Given the description of an element on the screen output the (x, y) to click on. 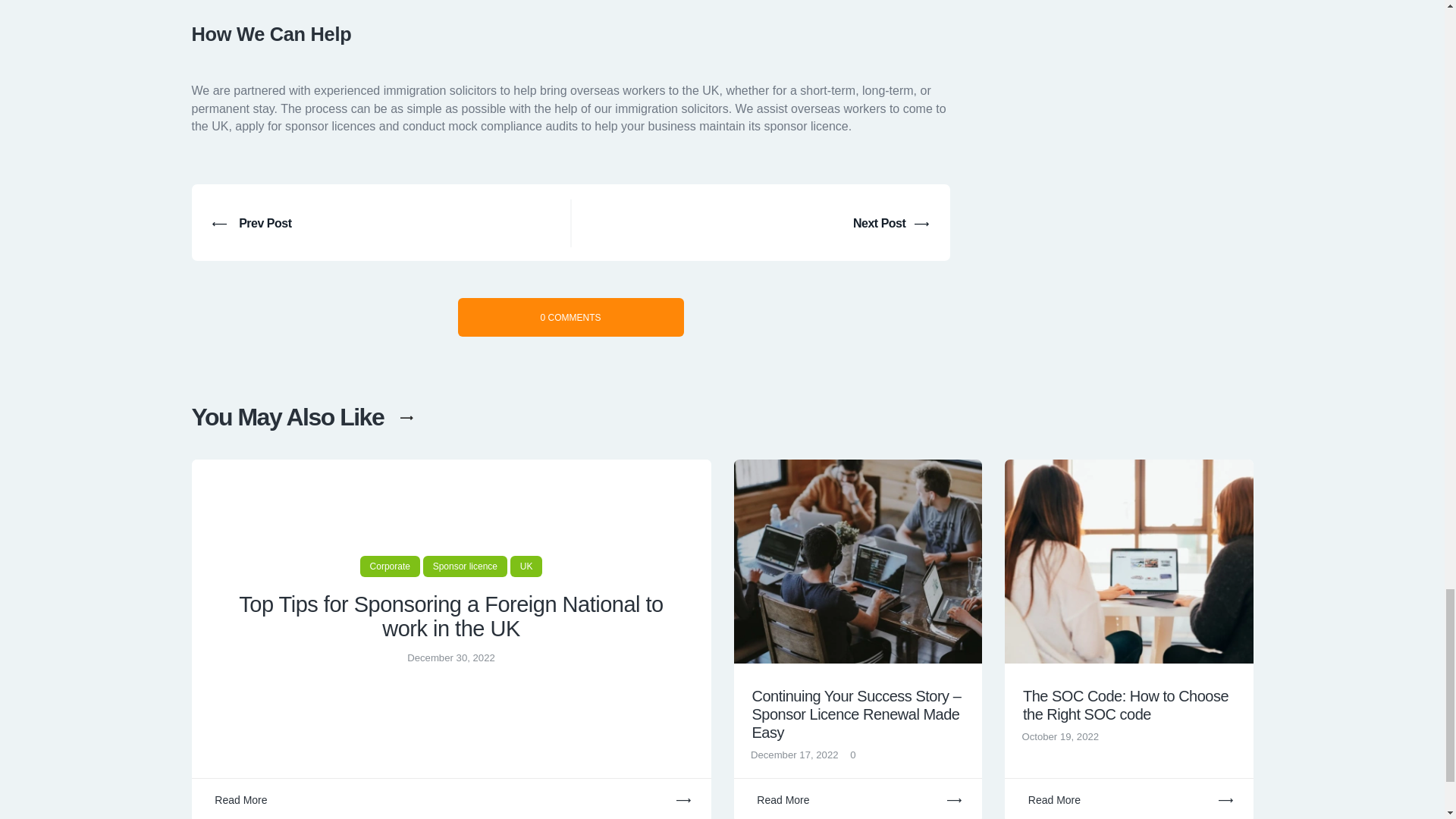
The SOC Code: How to Choose the Right SOC code 4 (1128, 561)
